Given the description of an element on the screen output the (x, y) to click on. 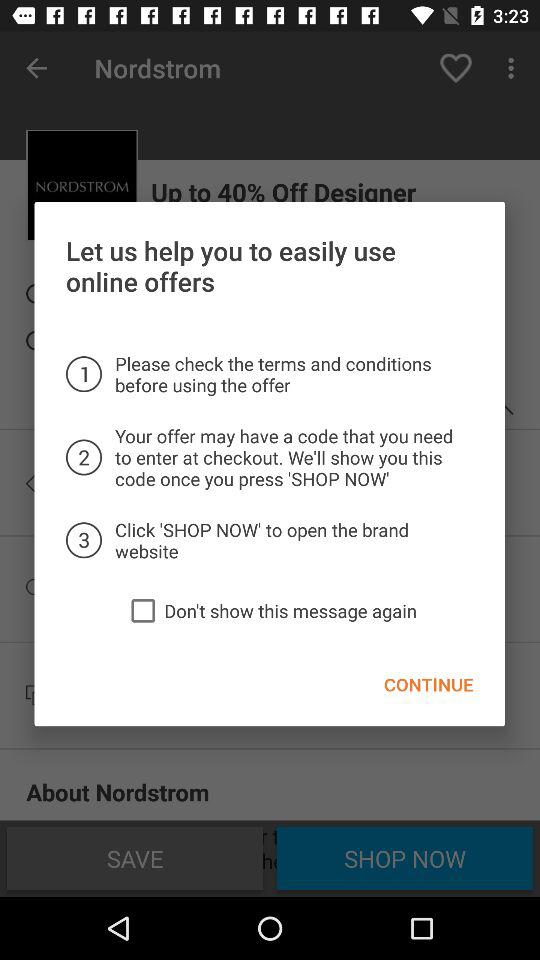
select the item on the left (143, 610)
